Given the description of an element on the screen output the (x, y) to click on. 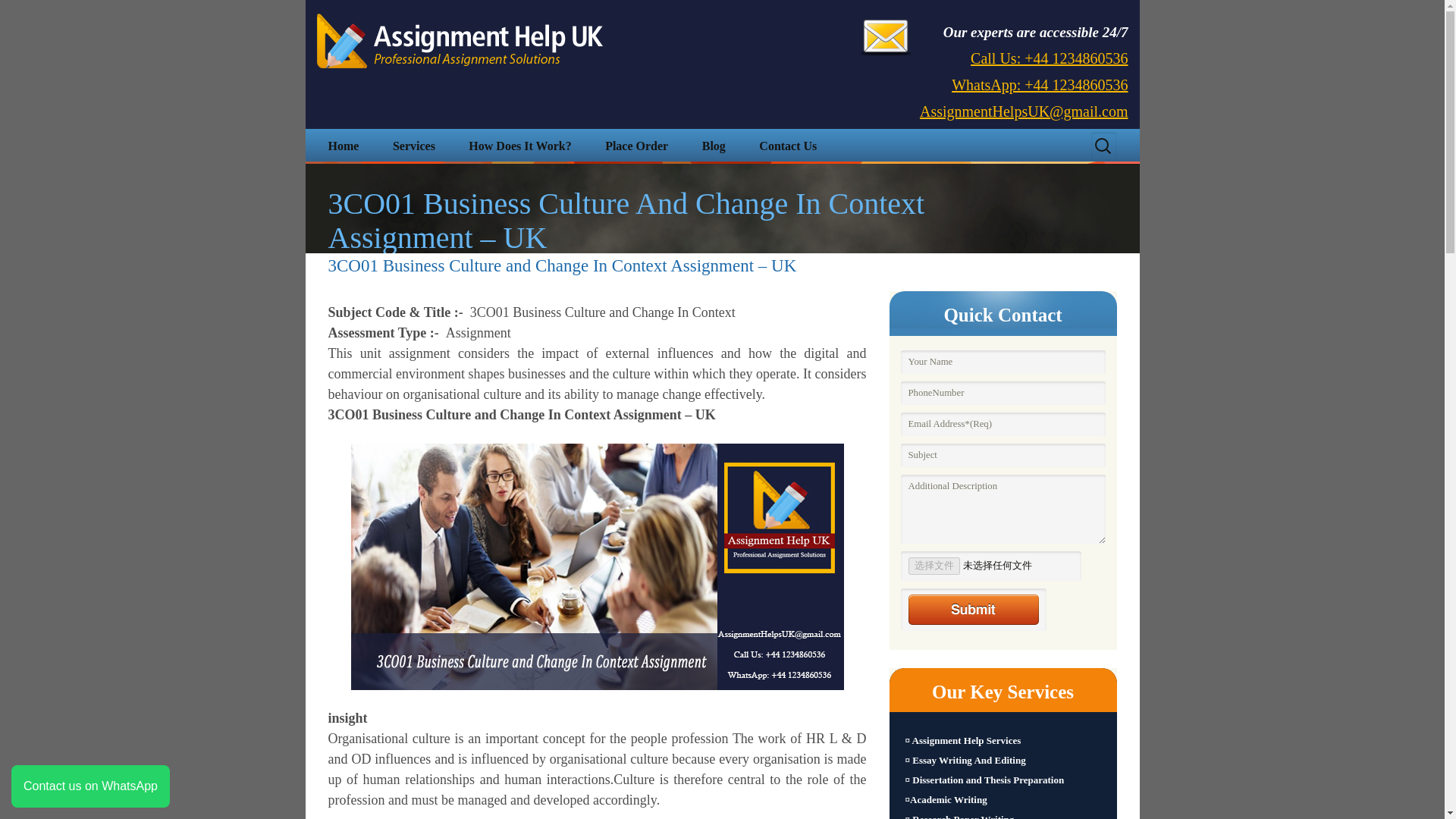
Assignment Help UK - Logo (459, 40)
Blog (714, 145)
Home (343, 145)
Contact Us (787, 145)
Place Order (635, 145)
How Does It Work? (519, 145)
Services (413, 145)
Essay Writing Help (496, 181)
